Given the description of an element on the screen output the (x, y) to click on. 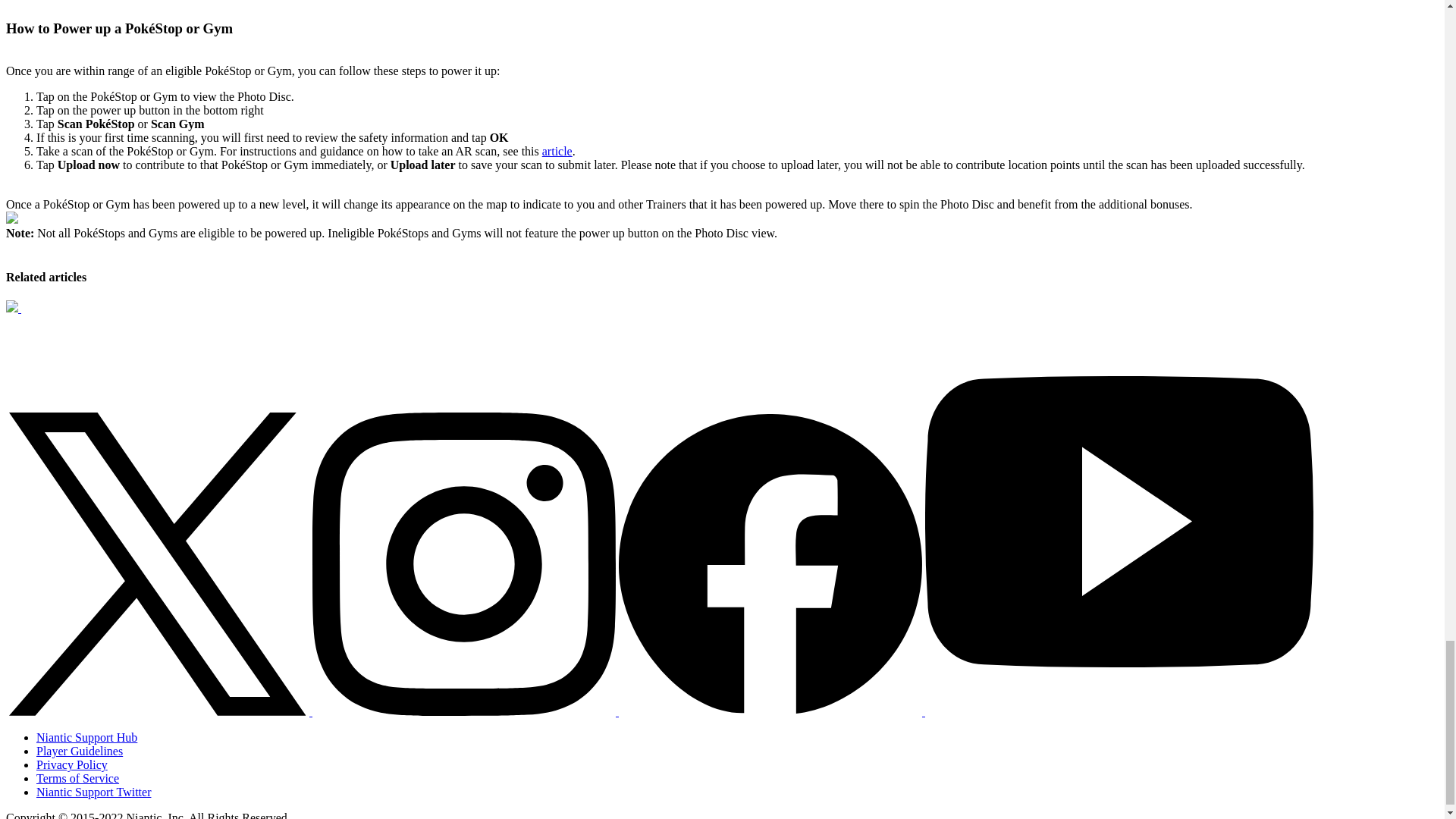
Privacy Policy (71, 764)
Logo Youtube (1118, 711)
Player Guidelines (79, 750)
Niantic Support Hub (86, 737)
article (556, 151)
Logo Facebook (771, 711)
Logo Facebook (769, 563)
Logo Instagram (465, 711)
Niantic Support Twitter (93, 791)
Terms of Service (77, 778)
Logo Instagram (464, 563)
